Given the description of an element on the screen output the (x, y) to click on. 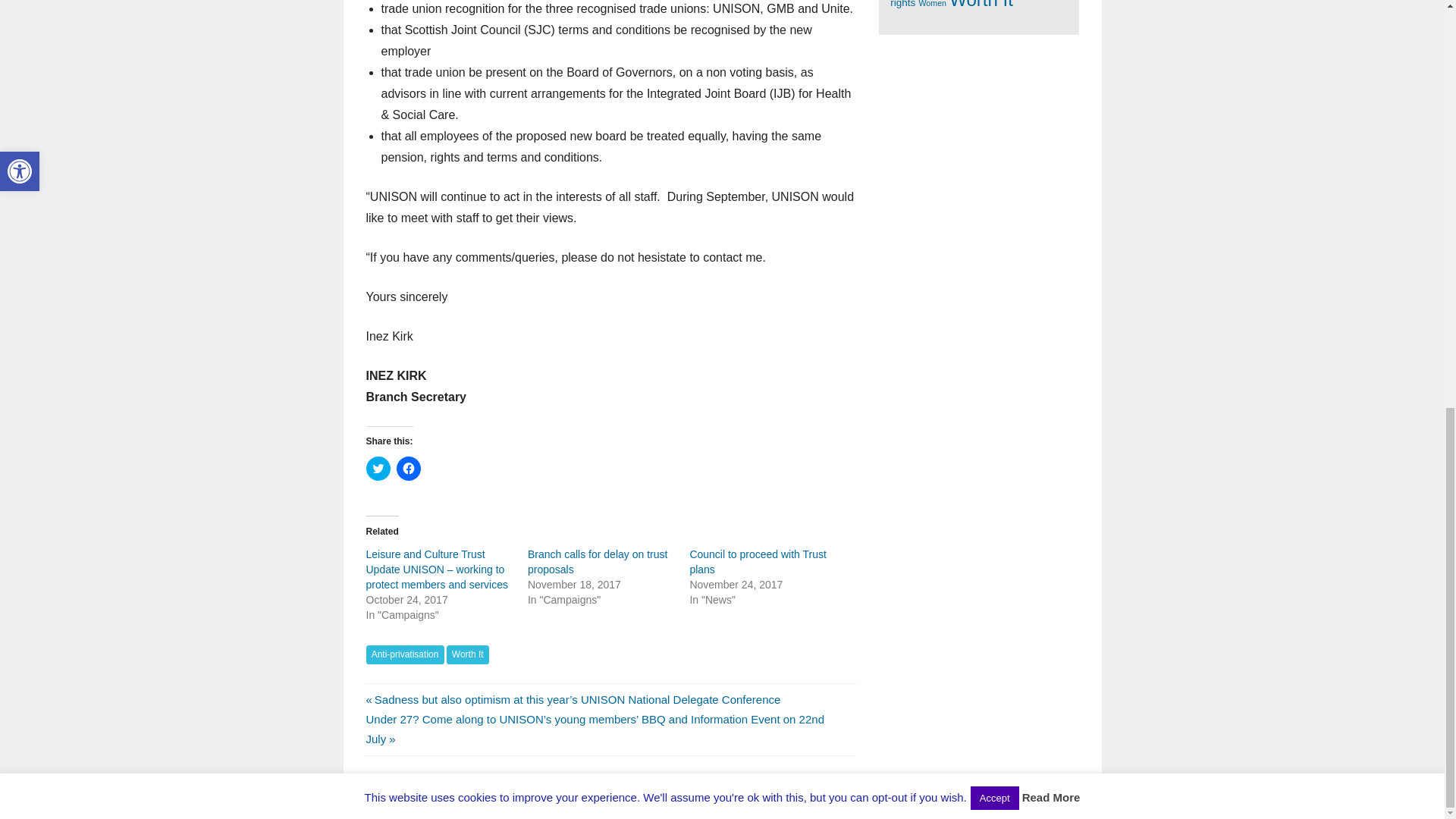
Council to proceed with Trust plans (757, 561)
Click to share on Facebook (408, 468)
Click to share on Twitter (377, 468)
Branch calls for delay on trust proposals (596, 561)
